Given the description of an element on the screen output the (x, y) to click on. 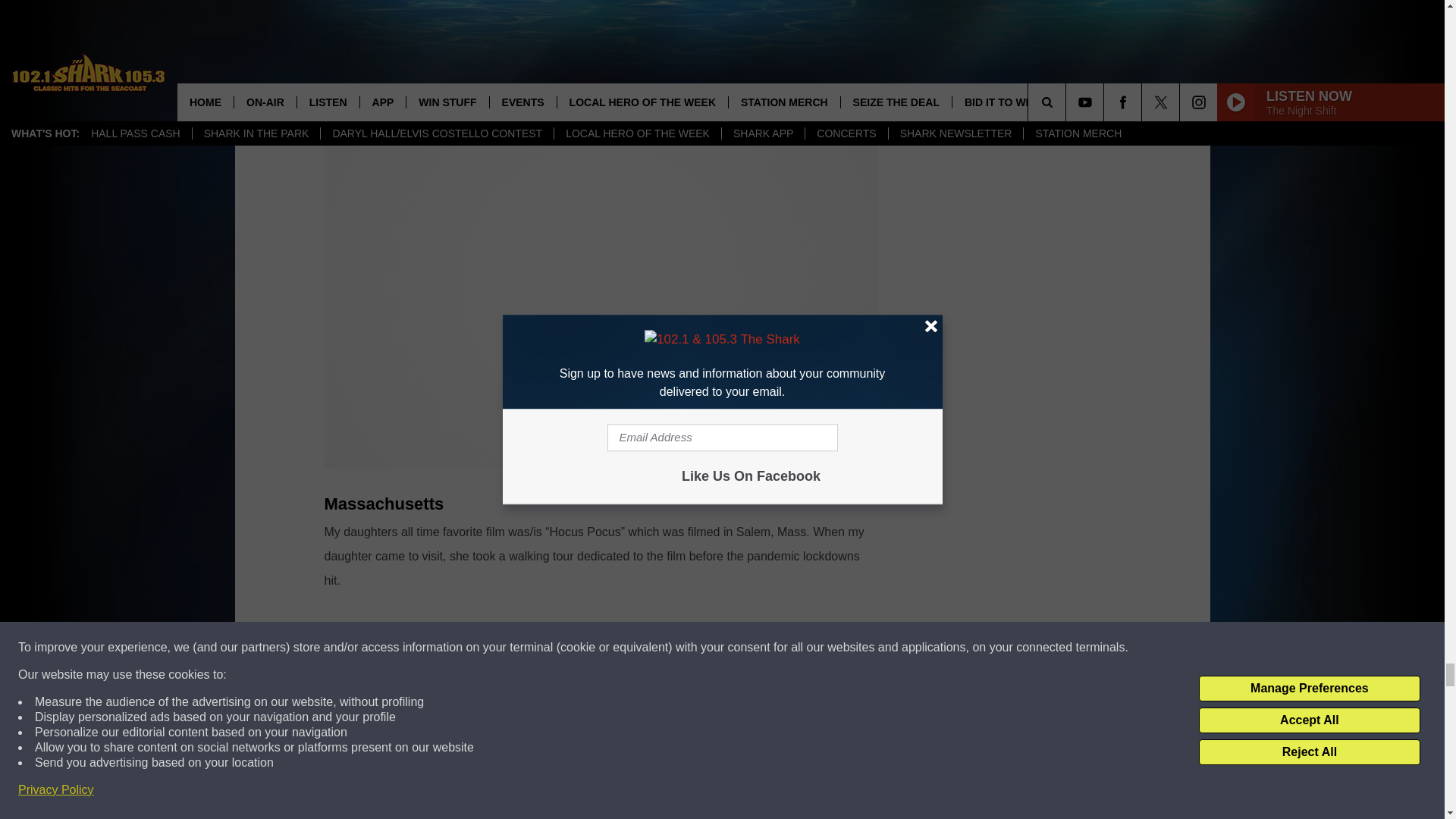
YouTube video player (600, 718)
